Given the description of an element on the screen output the (x, y) to click on. 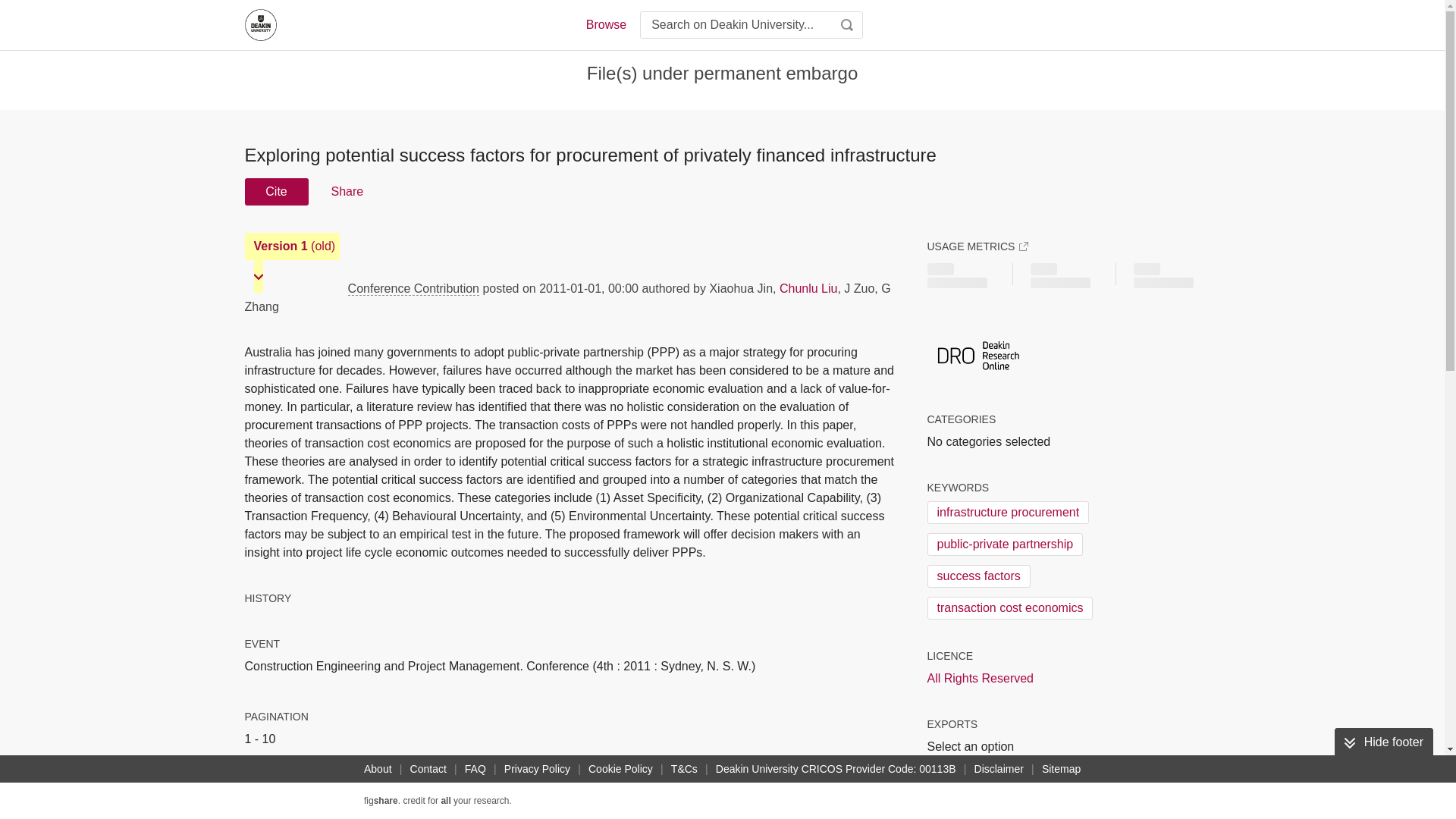
Cookie Policy (620, 769)
transaction cost economics (1009, 608)
Deakin University CRICOS Provider Code: 00113B (835, 769)
FAQ (475, 769)
Cite (275, 191)
success factors (977, 576)
Disclaimer (998, 769)
Privacy Policy (537, 769)
public-private partnership (1004, 544)
Sitemap (1060, 769)
Contact (428, 769)
Hide footer (1383, 742)
USAGE METRICS (976, 246)
Select an option (974, 746)
Chunlu Liu (808, 287)
